Given the description of an element on the screen output the (x, y) to click on. 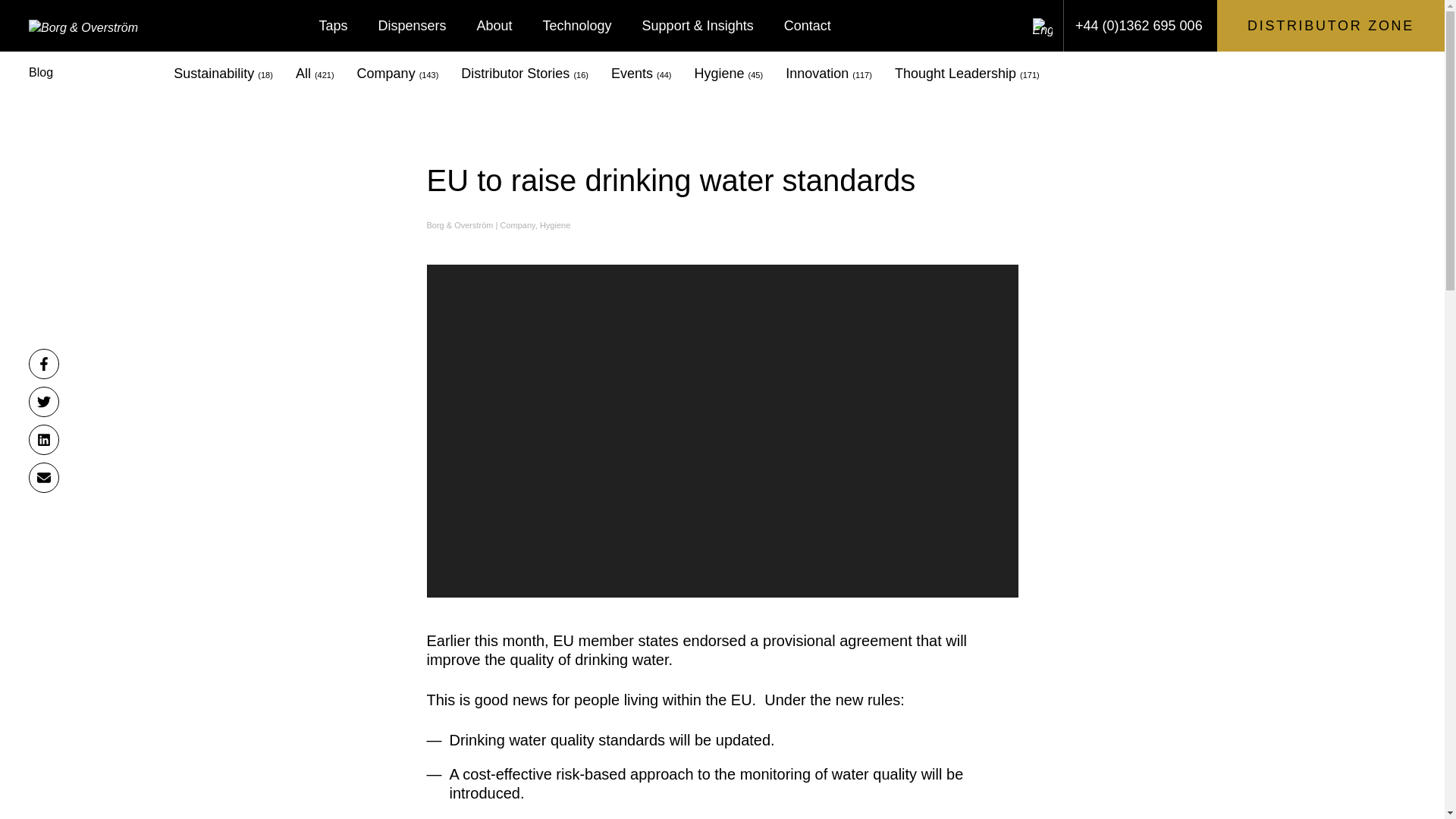
Submit the search query. (907, 26)
Dispensers (411, 25)
Taps (332, 25)
Share by Email (44, 477)
Technology (577, 25)
Contact (806, 25)
Share on Facebook (44, 363)
Company (517, 225)
Share on LinkedIn (44, 440)
Share on Twitter (44, 401)
About (494, 25)
Hygiene (555, 225)
